Given the description of an element on the screen output the (x, y) to click on. 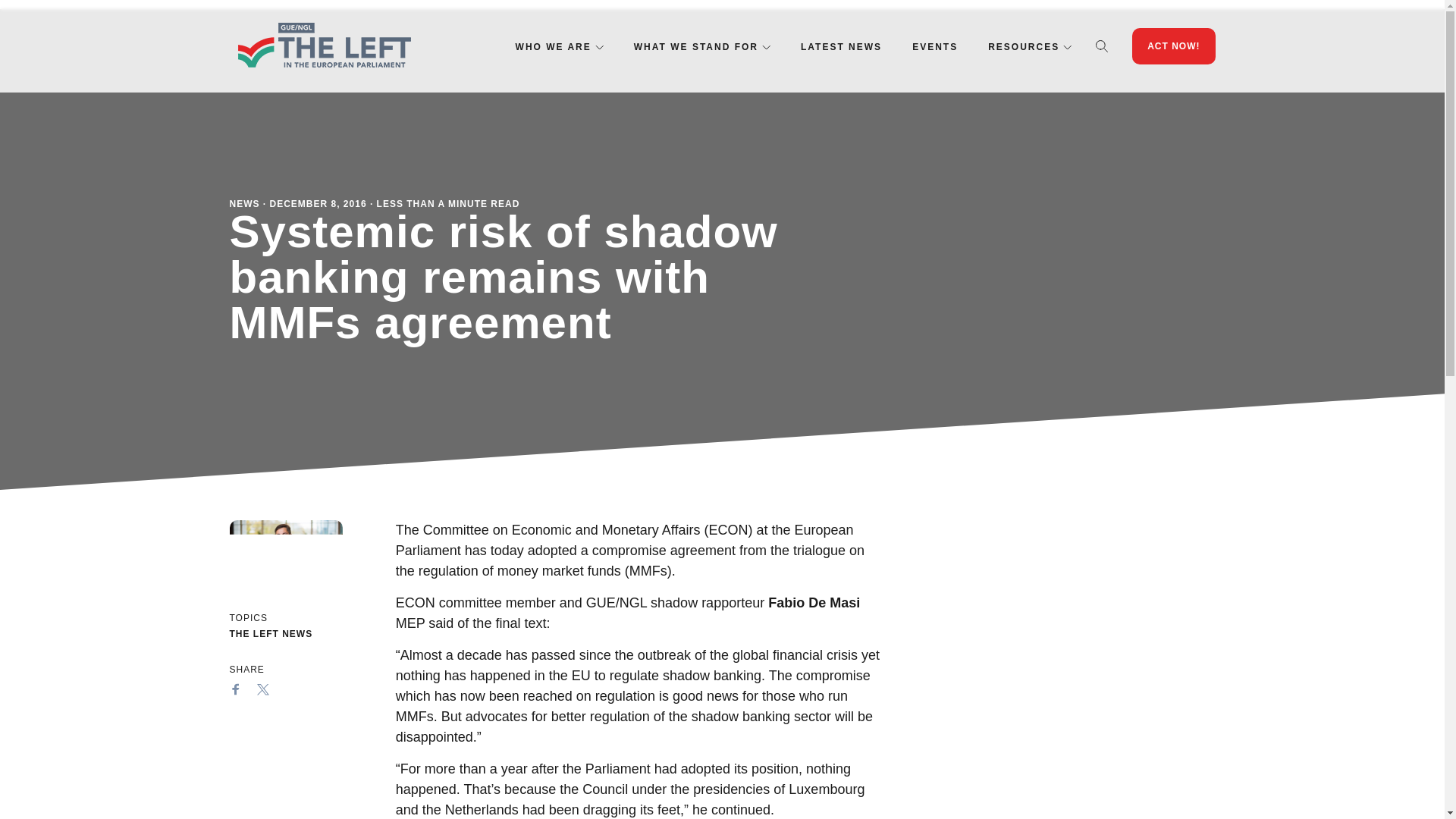
WHO WE ARE (553, 46)
LATEST NEWS (841, 46)
The Left (323, 45)
Search (1101, 45)
Search (1101, 45)
RESOURCES (1023, 46)
WHAT WE STAND FOR (695, 46)
EVENTS (935, 46)
Accueil (323, 45)
